Given the description of an element on the screen output the (x, y) to click on. 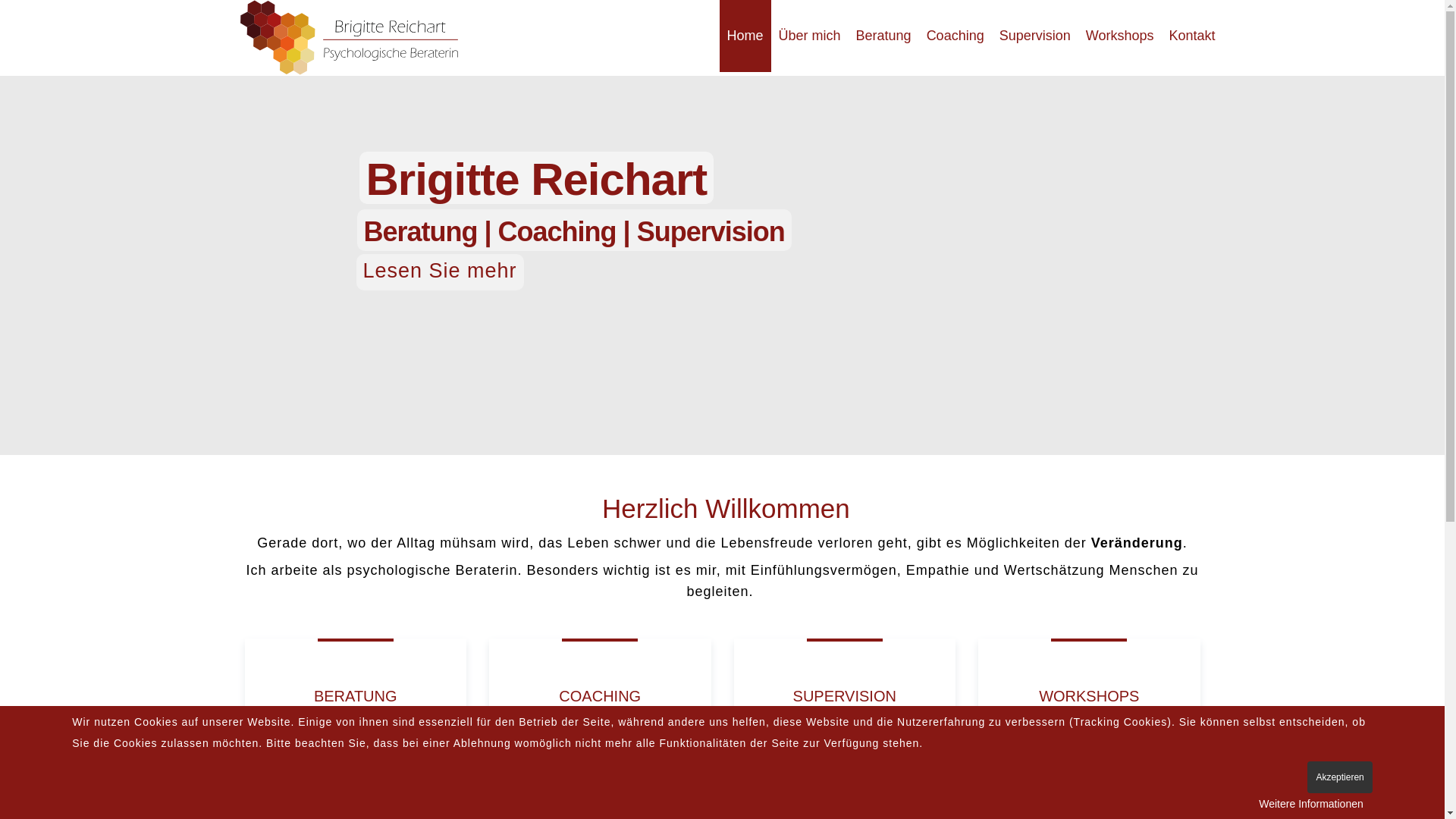
Workshops Element type: text (1119, 36)
Weitere Informationen Element type: text (1310, 804)
Akzeptieren Element type: text (1339, 777)
Home Element type: text (745, 36)
Beratung Element type: text (883, 36)
Coaching Element type: text (955, 36)
Kontakt Element type: text (1191, 36)
Workshops Element type: text (1088, 796)
Supervision Element type: text (1034, 36)
